Given the description of an element on the screen output the (x, y) to click on. 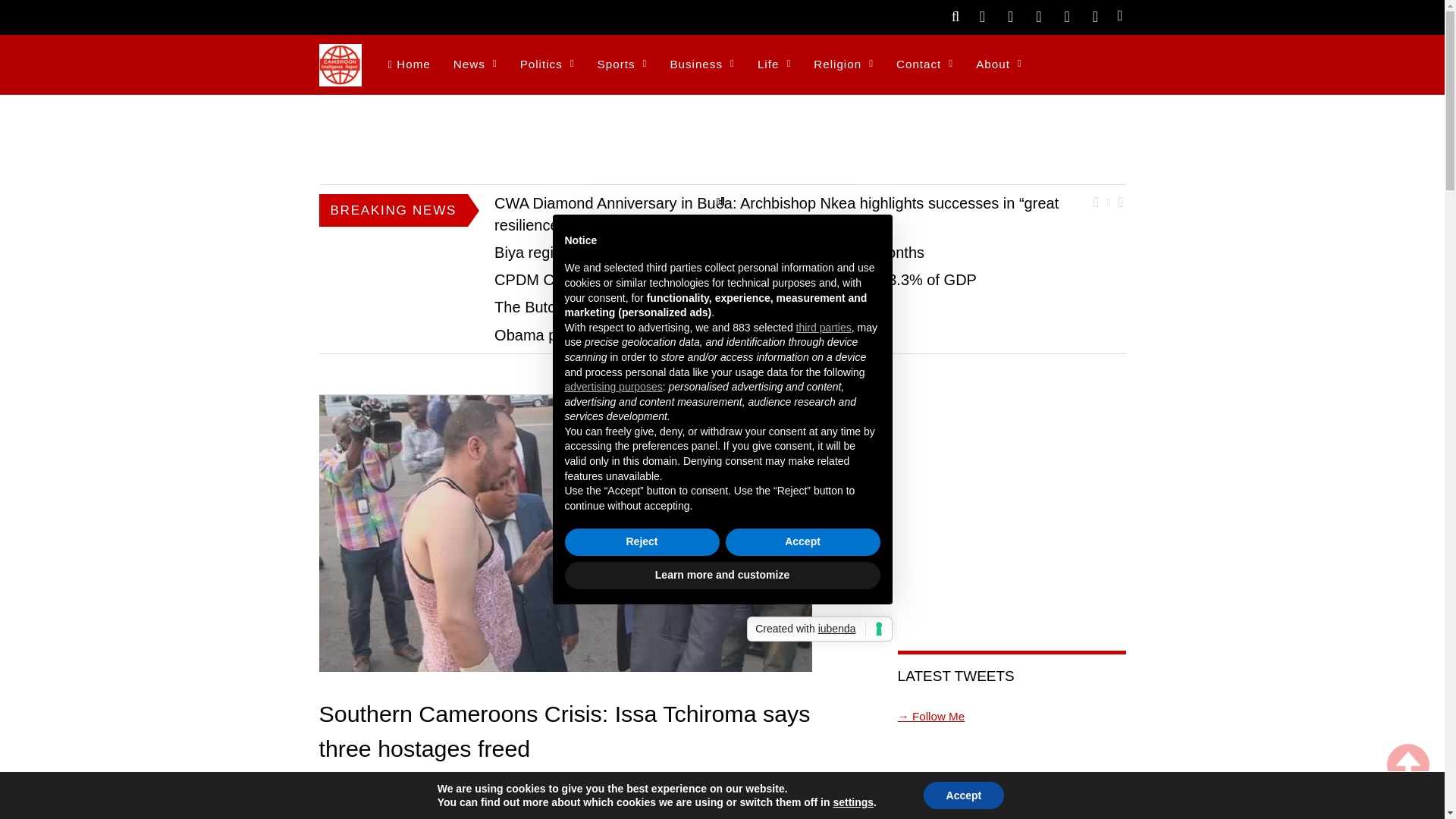
Biya regime earns CFA174.2bn from Oil and Gas in four months (709, 252)
Linkedin (1094, 15)
Religion (843, 65)
YouTube (1067, 15)
Life (773, 65)
Cameroon Intelligence Report (339, 65)
Business (701, 65)
News (475, 65)
Sports (622, 65)
Home (408, 65)
Twitter (981, 15)
Cameroon Intelligence Report (339, 77)
Contact (924, 65)
Politics (547, 65)
